Given the description of an element on the screen output the (x, y) to click on. 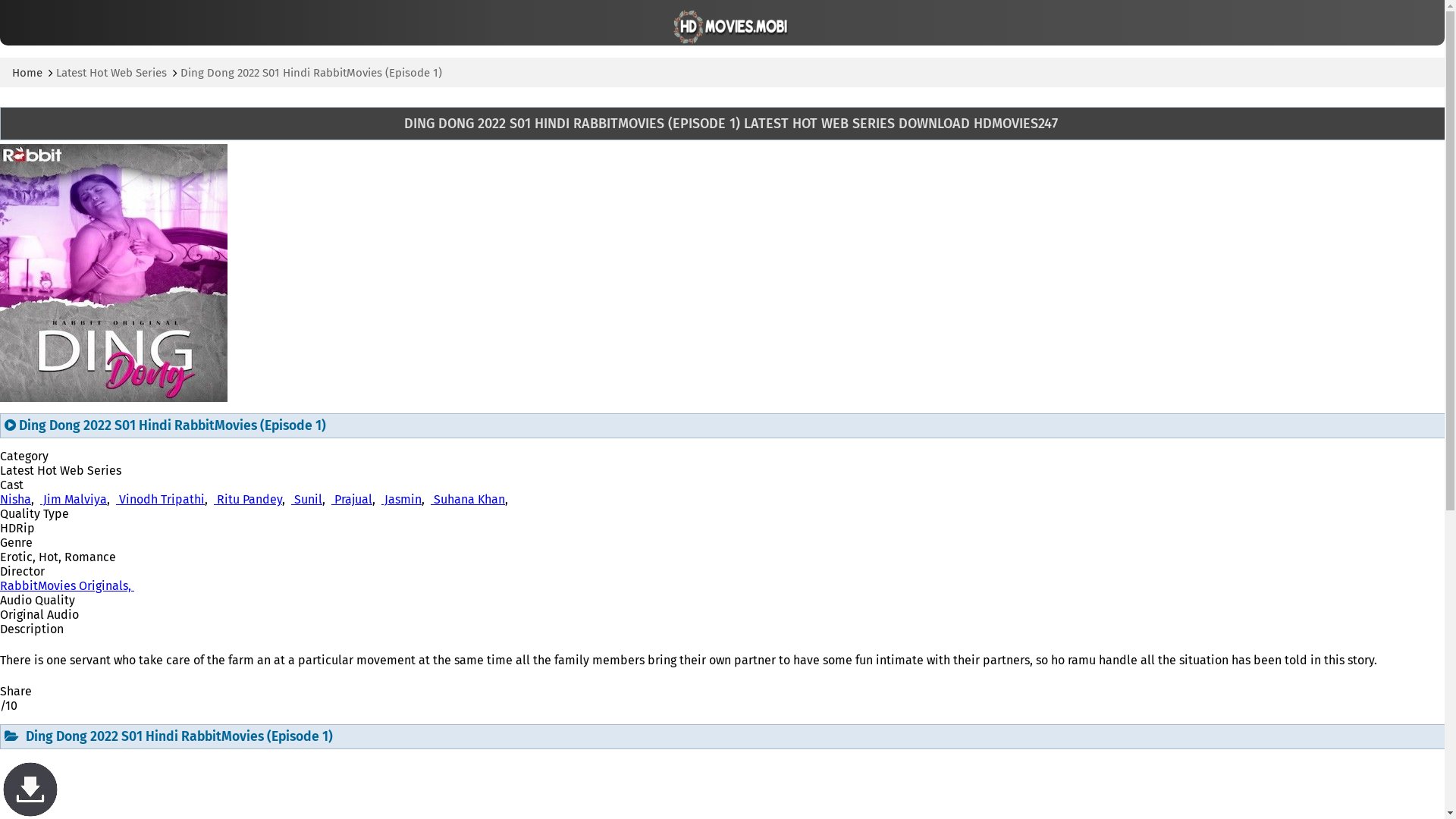
Home Element type: text (27, 72)
Vinodh Tripathi Element type: text (160, 499)
Prajual Element type: text (351, 499)
RabbitMovies Originals, Element type: text (67, 585)
HDMovies247.in Element type: hover (725, 24)
Nisha Element type: text (15, 499)
Jim Malviya Element type: text (73, 499)
Ritu Pandey Element type: text (247, 499)
Suhana Khan Element type: text (467, 499)
Jasmin Element type: text (401, 499)
Sunil Element type: text (306, 499)
